Given the description of an element on the screen output the (x, y) to click on. 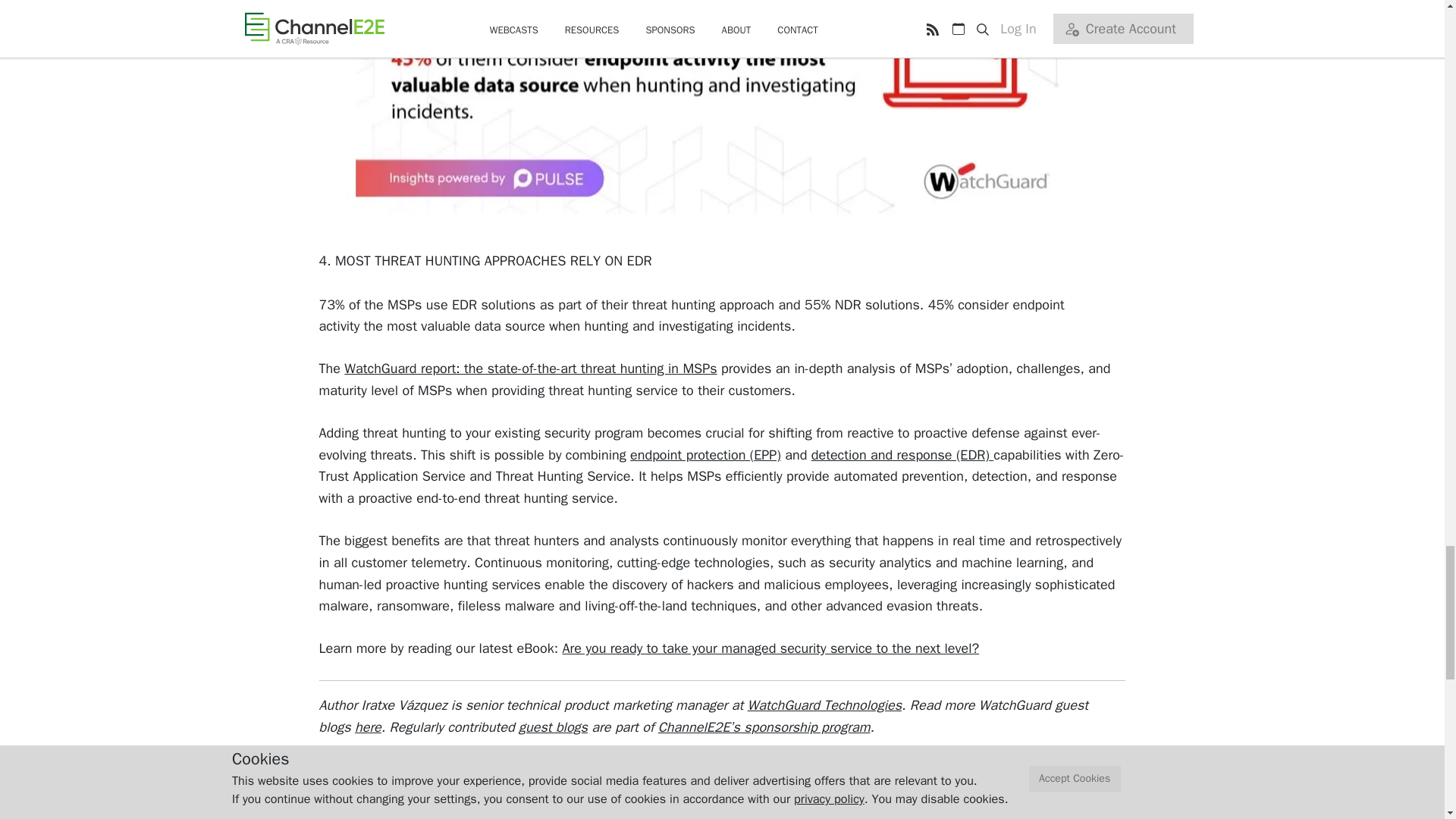
Sponsored by WatchGuard Technologies (491, 778)
here (368, 727)
WatchGuard Technologies (824, 704)
guest blogs (553, 727)
